Given the description of an element on the screen output the (x, y) to click on. 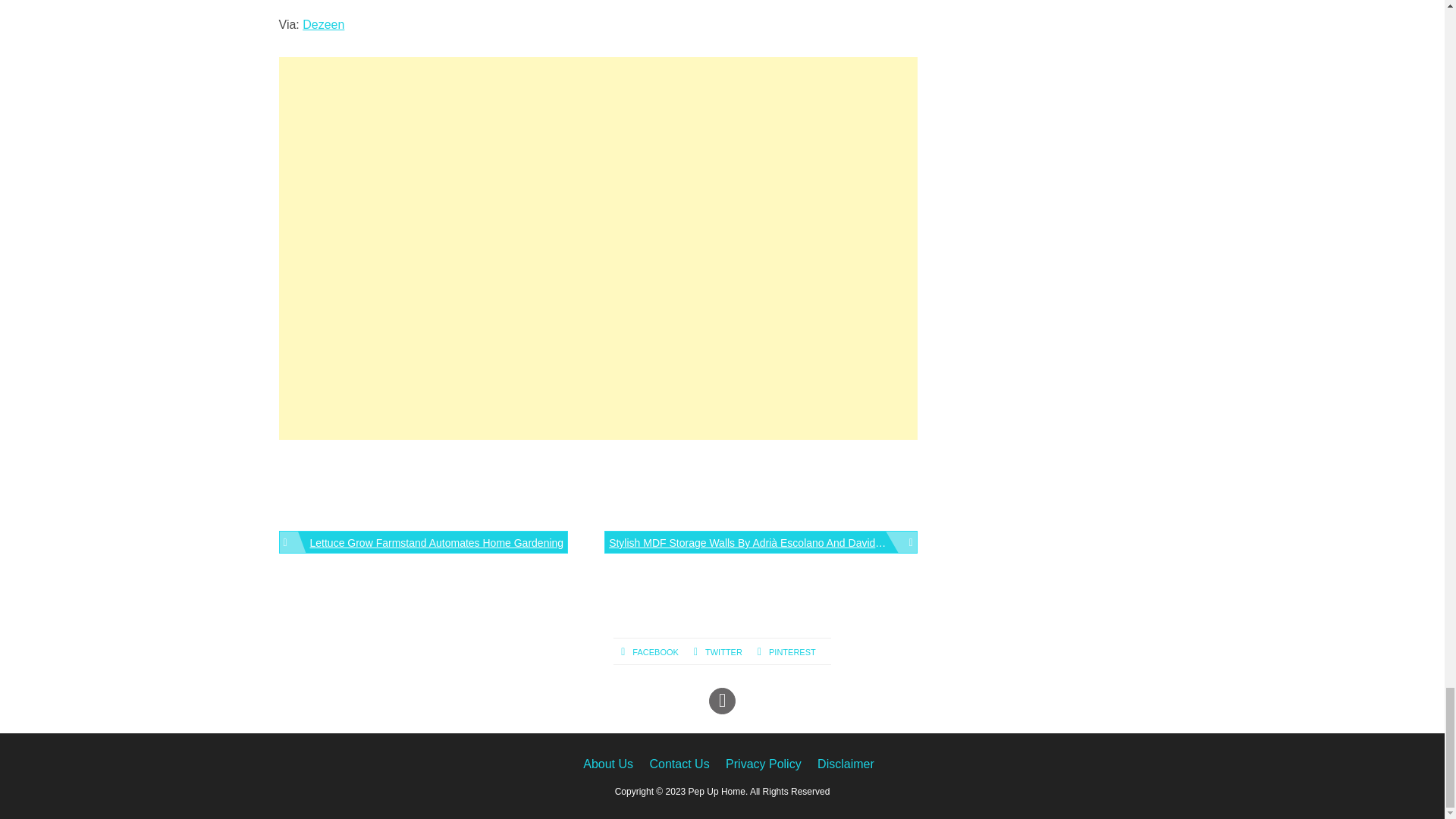
FACEBOOK (657, 651)
Dezeen (322, 24)
Contact Us (679, 763)
TWITTER (725, 651)
PINTEREST (794, 651)
About Us (608, 763)
Lettuce Grow Farmstand Automates Home Gardening (424, 541)
